Given the description of an element on the screen output the (x, y) to click on. 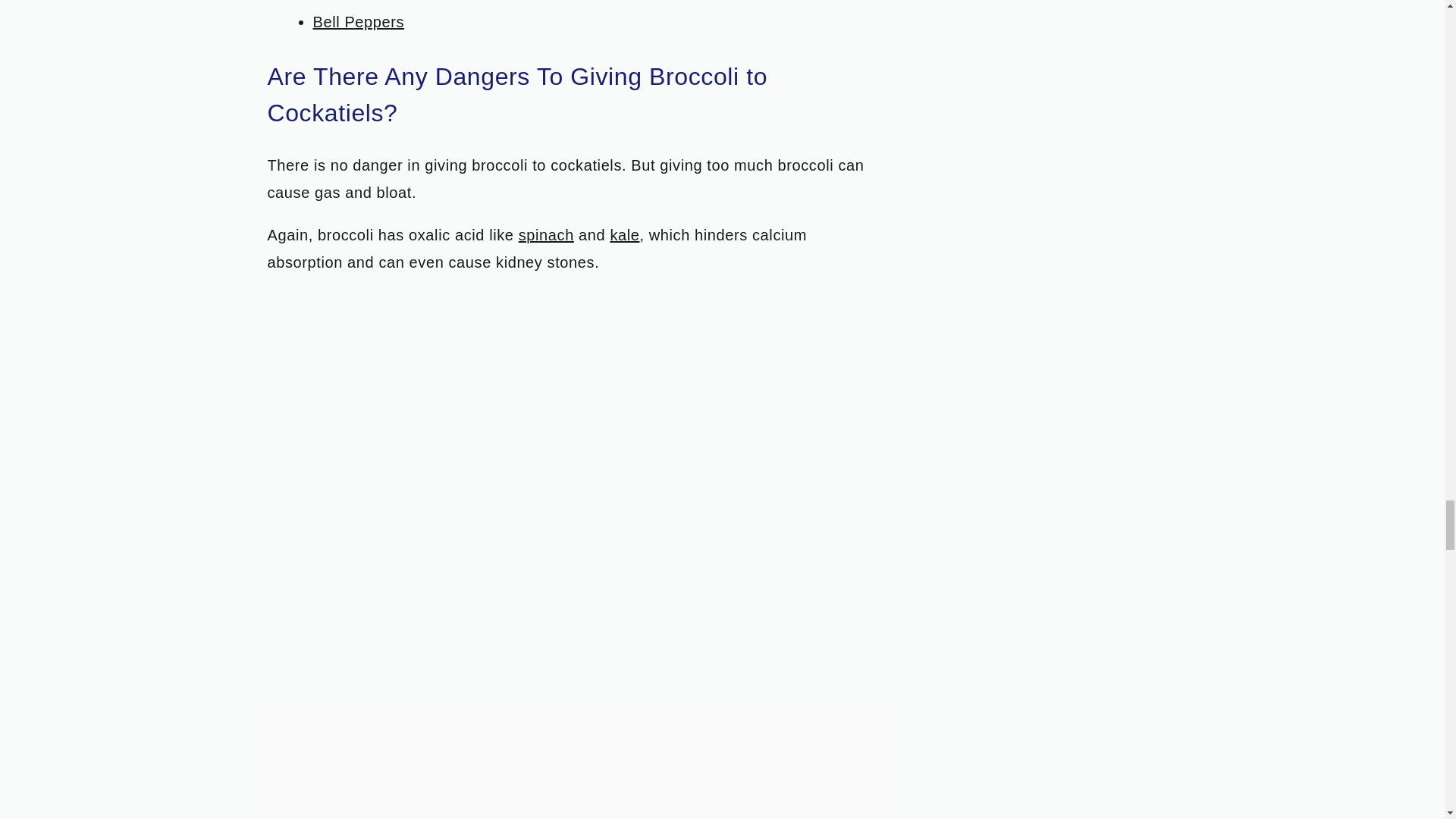
spinach (545, 234)
Bell Peppers (358, 21)
kale (624, 234)
